Given the description of an element on the screen output the (x, y) to click on. 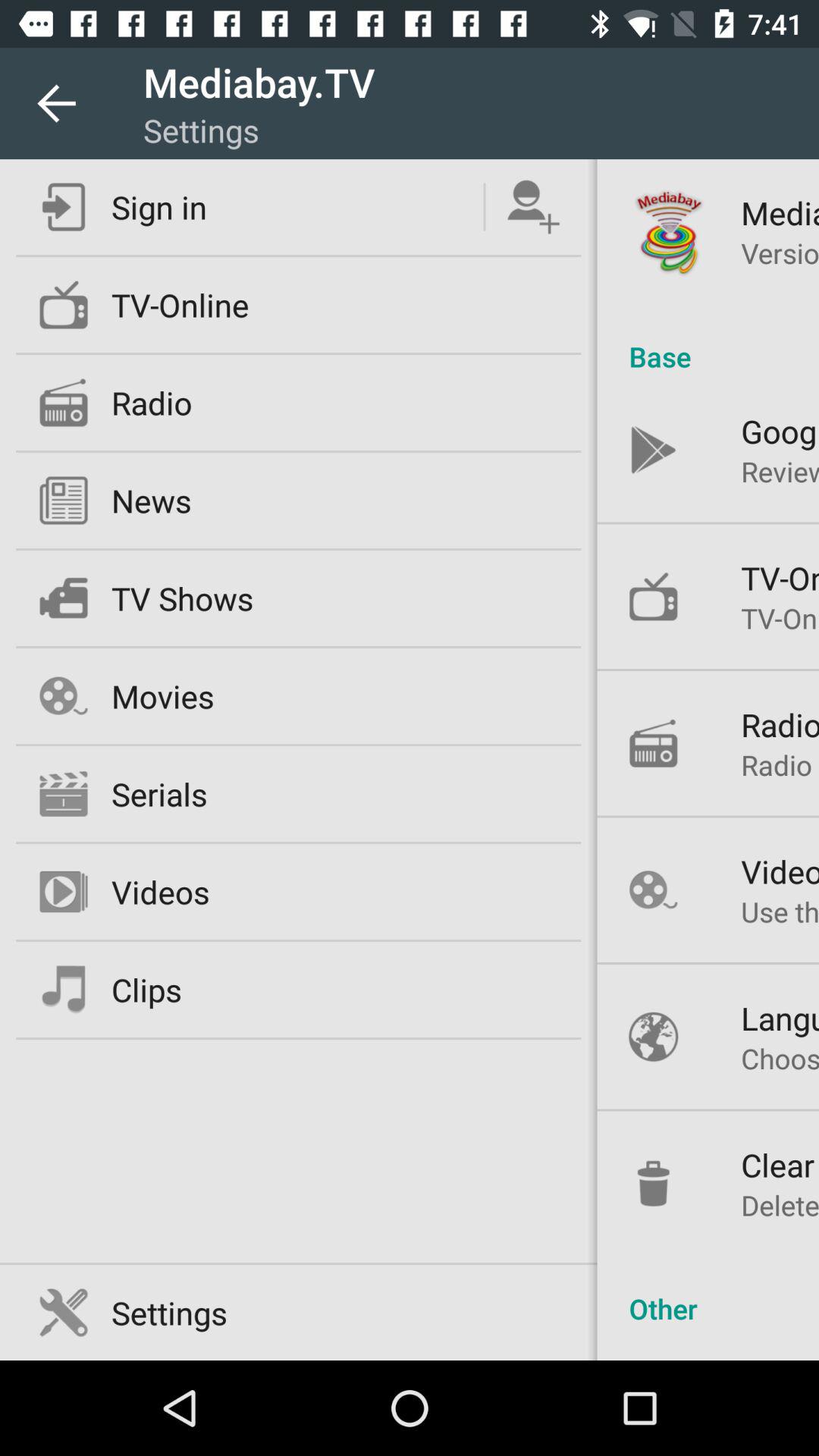
turn off the icon above the base item (780, 252)
